Given the description of an element on the screen output the (x, y) to click on. 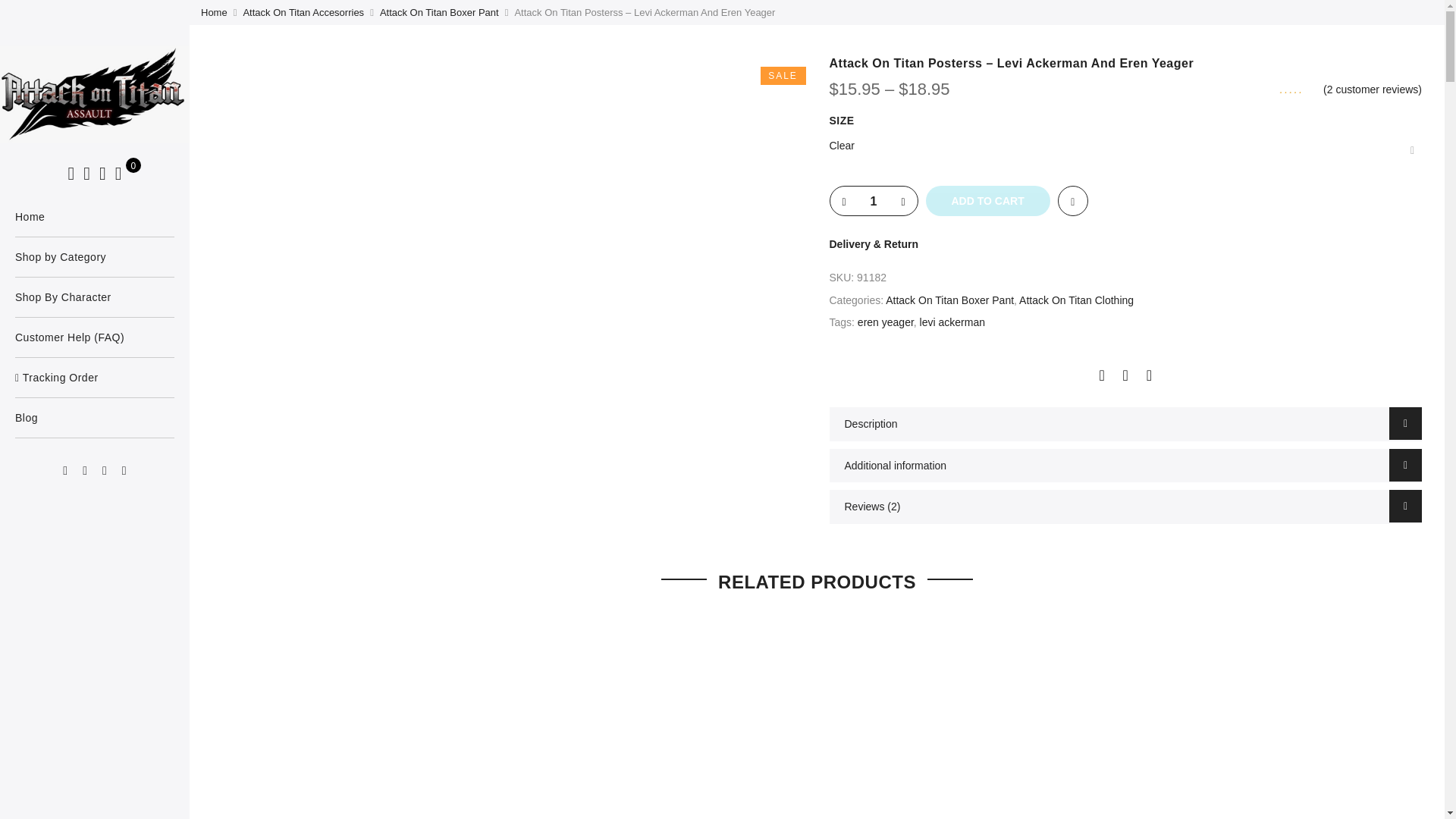
Home (94, 216)
1 (873, 201)
Qty (873, 201)
Shop by Category (94, 256)
